Given the description of an element on the screen output the (x, y) to click on. 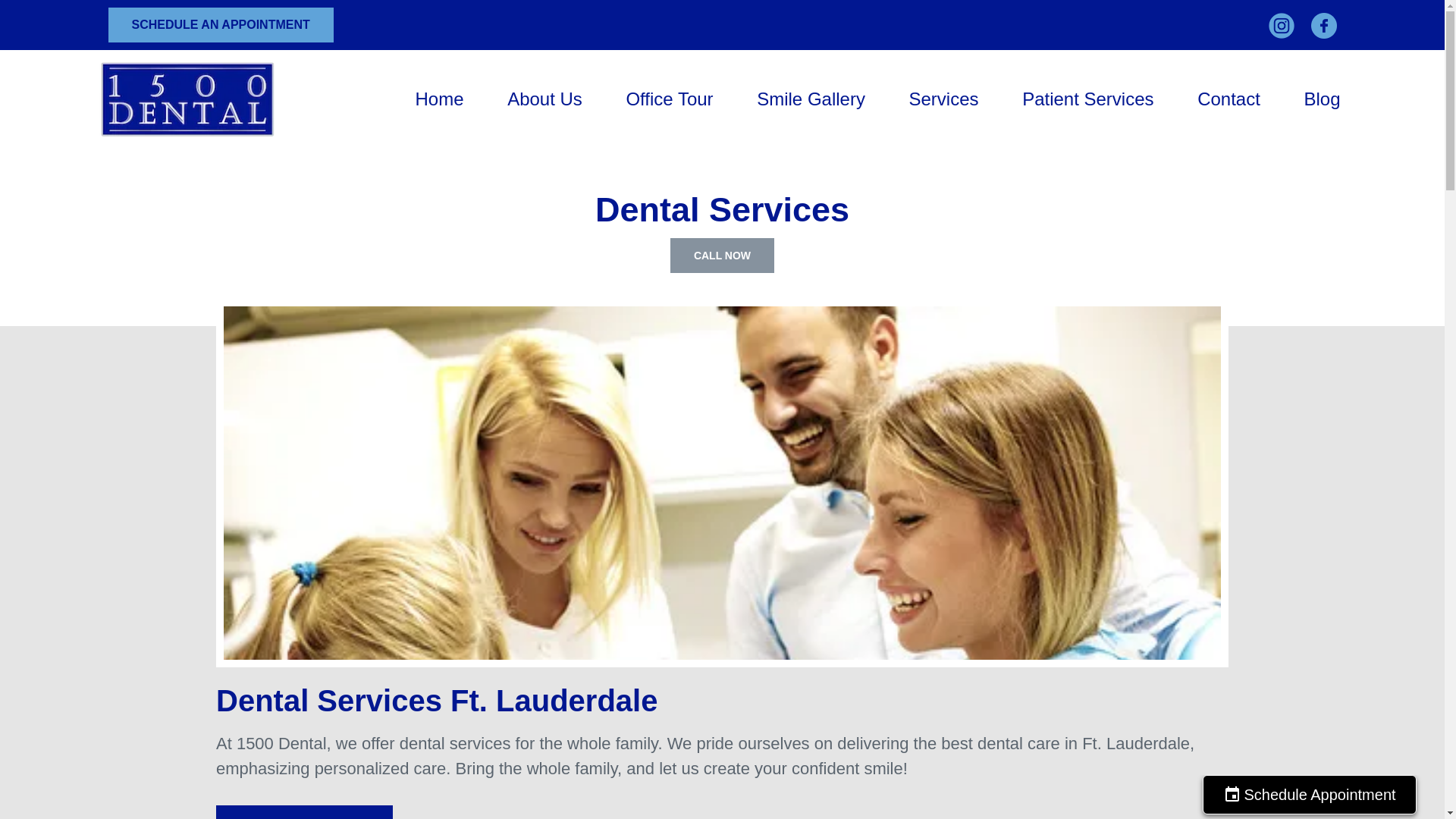
SCHEDULE AN APPOINTMENT (220, 24)
Office Tour (668, 98)
Home (439, 98)
BOOK AN APPOINTMENT (304, 812)
About Us (544, 98)
Smile Gallery (810, 98)
Blog (1321, 98)
CALL NOW (721, 255)
